Given the description of an element on the screen output the (x, y) to click on. 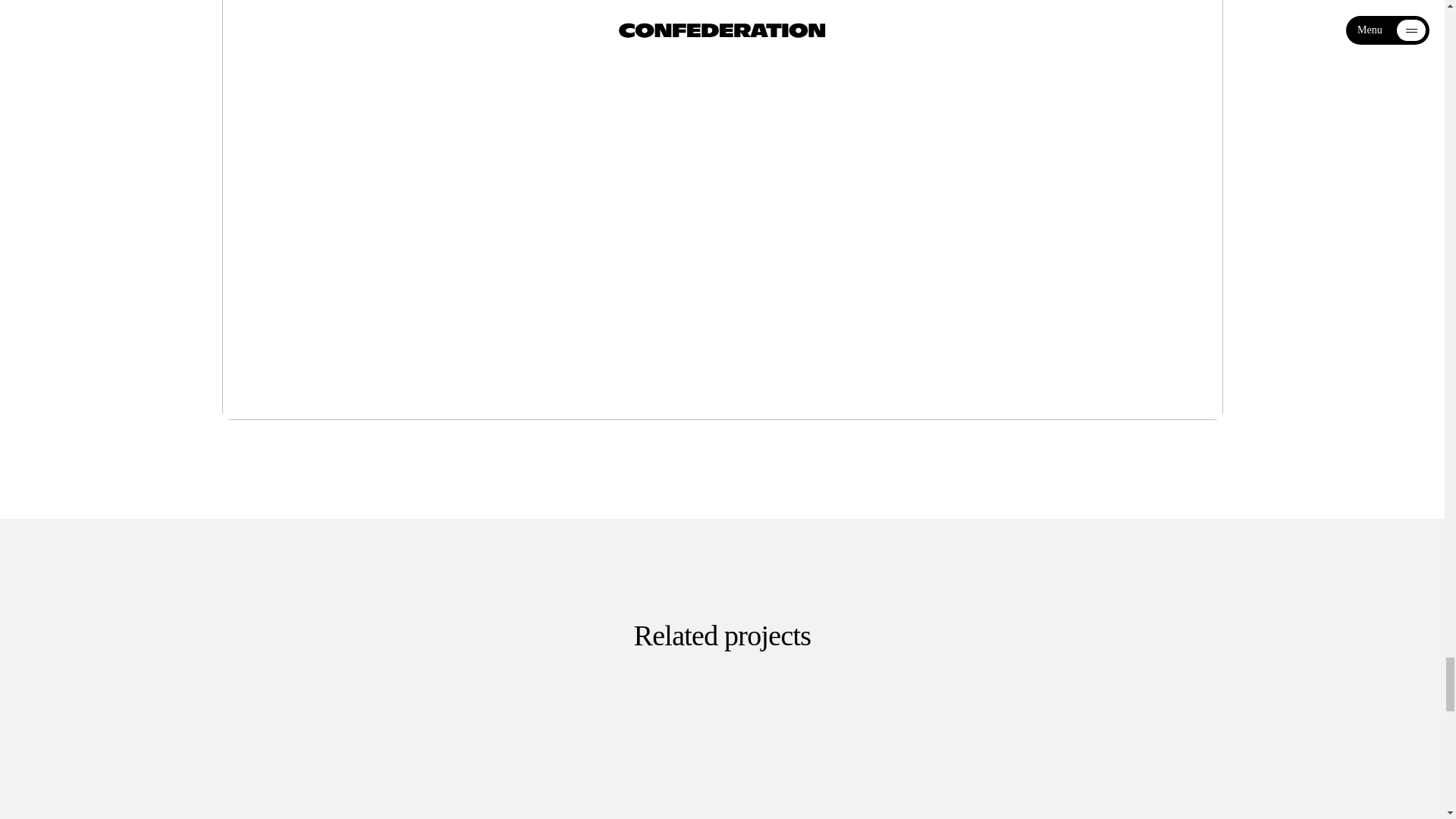
JudeBringing Bladder Care Into The Mainstream (972, 785)
OvumReproductive And Fertility Wellness (471, 785)
